Given the description of an element on the screen output the (x, y) to click on. 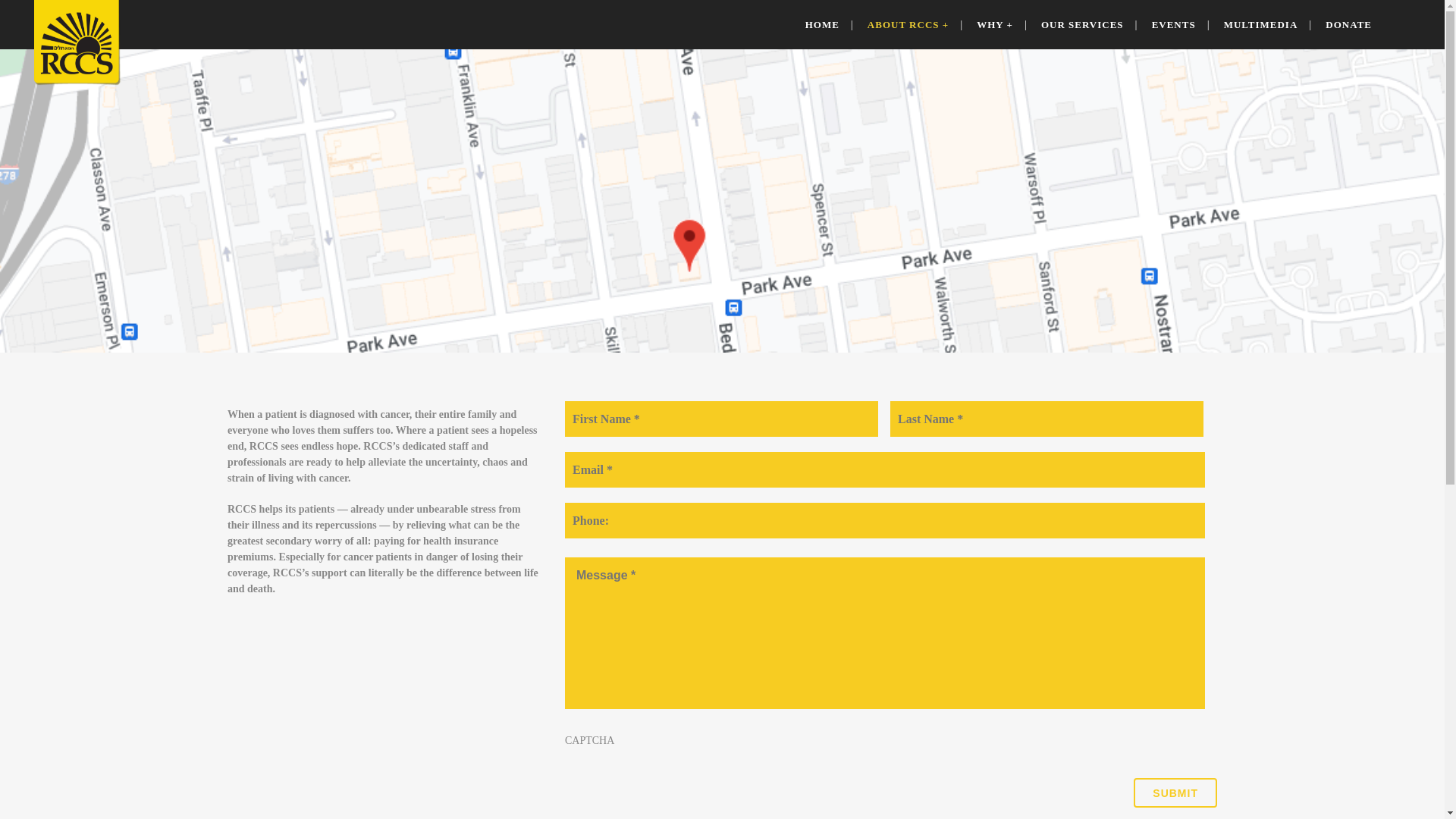
EVENTS (1173, 24)
RCCS Israel (331, 698)
DONATE (1348, 24)
Medical Assistance (544, 655)
Disclamer (691, 798)
MULTIMEDIA (1261, 24)
Financial Assistance (547, 675)
Our Mission (331, 678)
Emotional Assistance (549, 695)
OUR SERVICES (1082, 24)
HOME (821, 24)
SUBMIT (1175, 792)
SUBMIT (1175, 792)
